Given the description of an element on the screen output the (x, y) to click on. 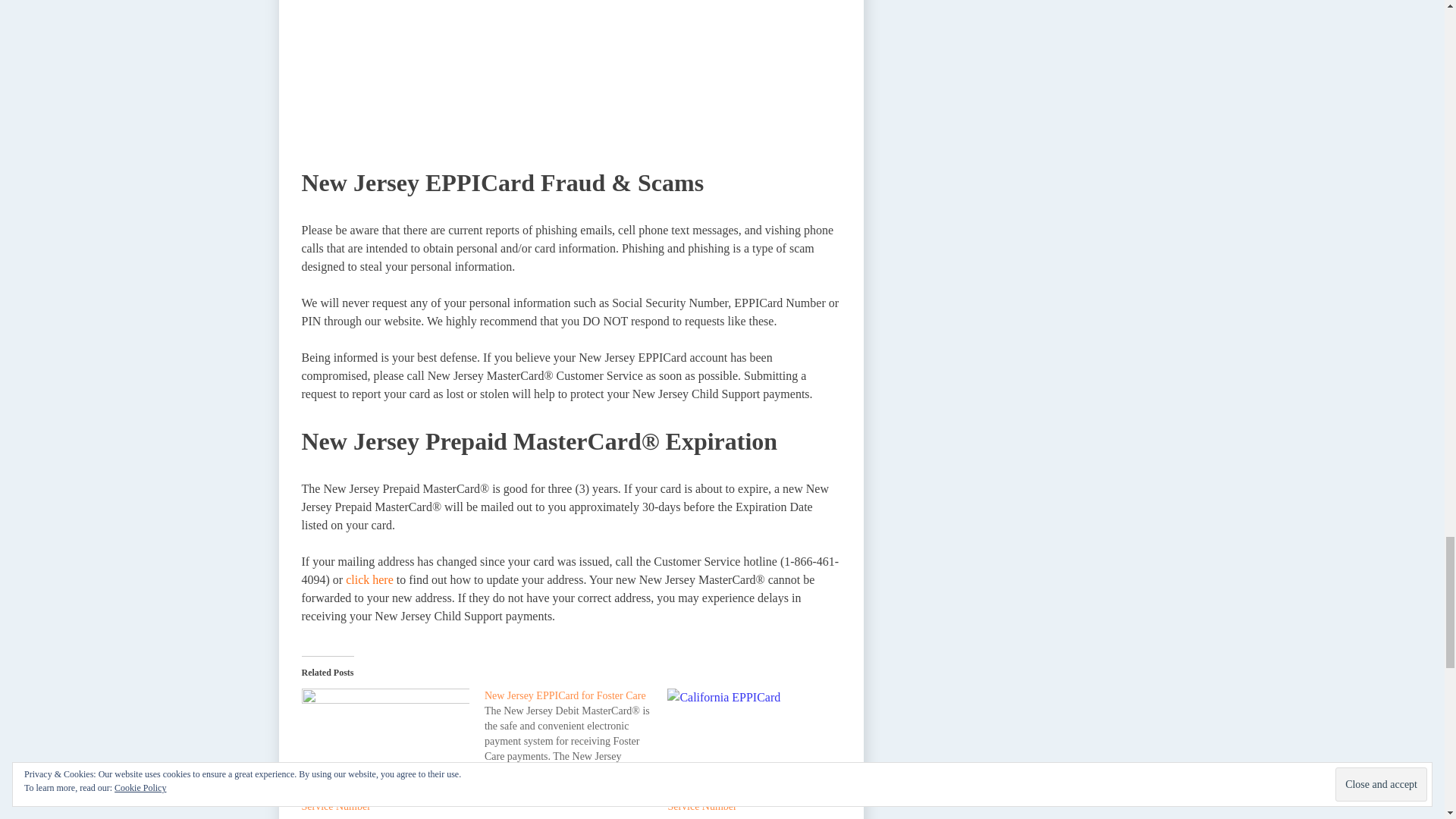
New Jersey NJ EPPICard Customer Service Number (377, 798)
New Jersey EPPICard for Foster Care (575, 733)
click here (369, 579)
New Jersey EPPICard for Foster Care (565, 695)
New Jersey NJ EPPICard Customer Service Number (384, 736)
California CA EPPICard Customer Service Number (750, 736)
New Jersey NJ EPPICard Customer Service Number (377, 798)
California CA EPPICard Customer Service Number (740, 798)
New Jersey EPPICard for Foster Care (565, 695)
California CA EPPICard Customer Service Number (740, 798)
